Given the description of an element on the screen output the (x, y) to click on. 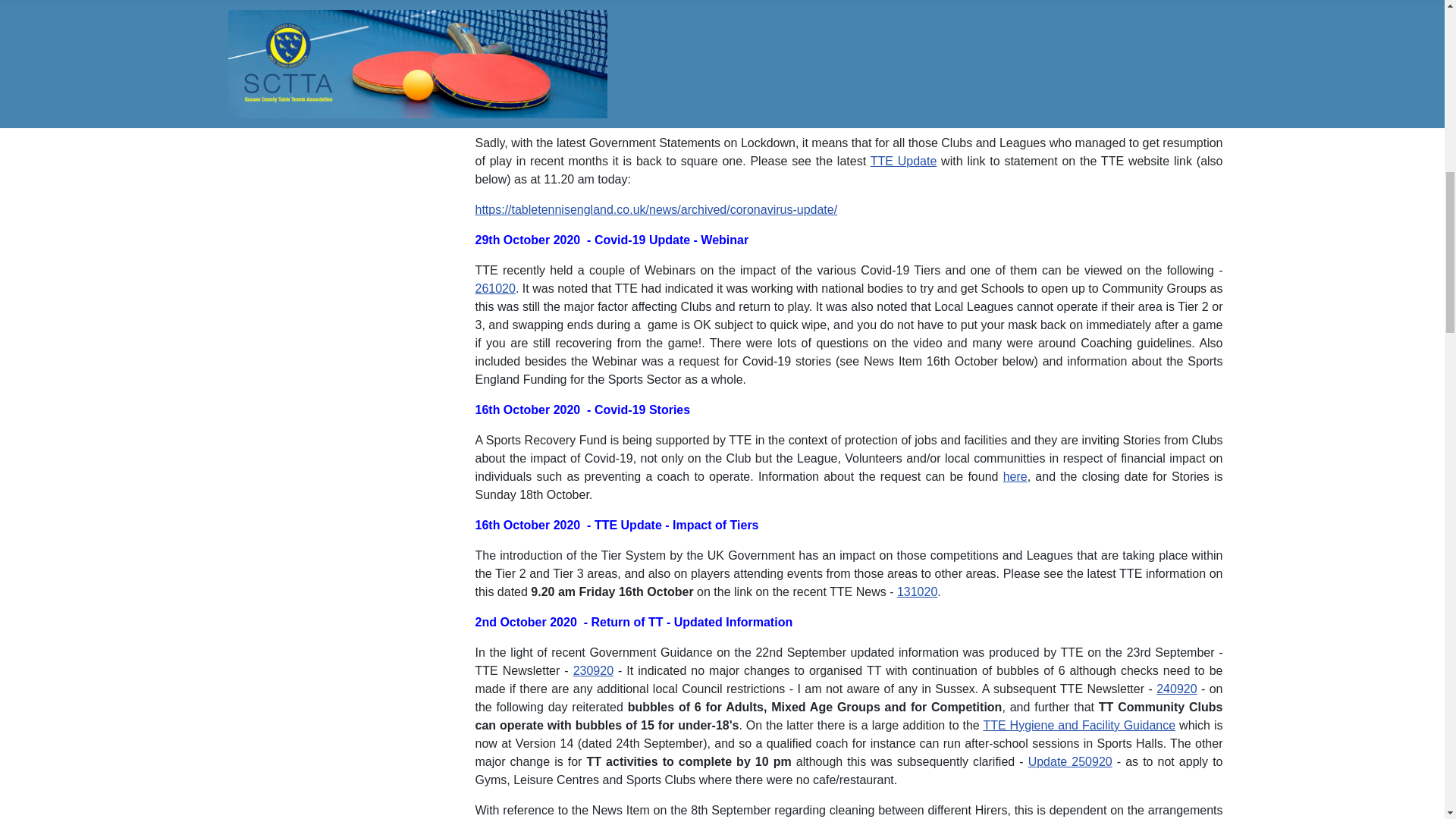
261020 (494, 287)
131020 (916, 591)
here (1015, 476)
TTE Update (903, 160)
GO (256, 13)
